Given the description of an element on the screen output the (x, y) to click on. 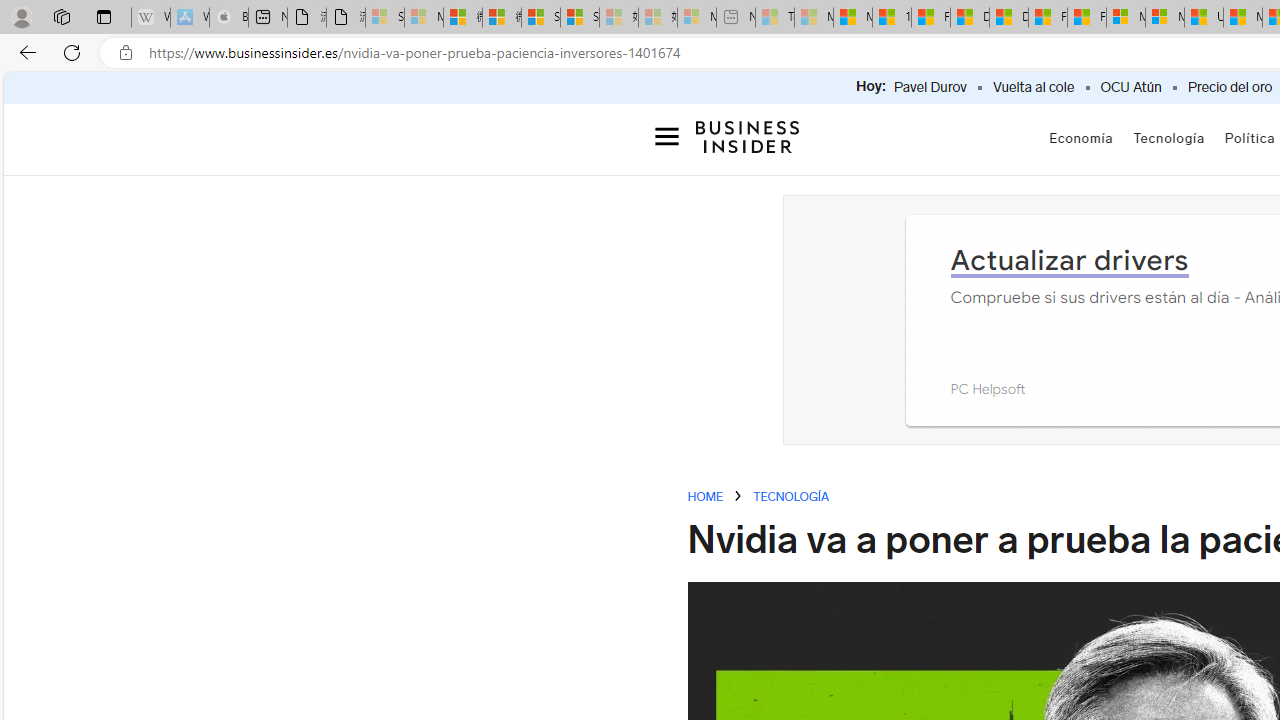
Drinking tea every day is proven to delay biological aging (1008, 17)
Microsoft Services Agreement - Sleeping (423, 17)
Food and Drink - MSN (930, 17)
Vuelta al cole (1033, 88)
HOME (705, 497)
Buy iPad - Apple - Sleeping (228, 17)
